Given the description of an element on the screen output the (x, y) to click on. 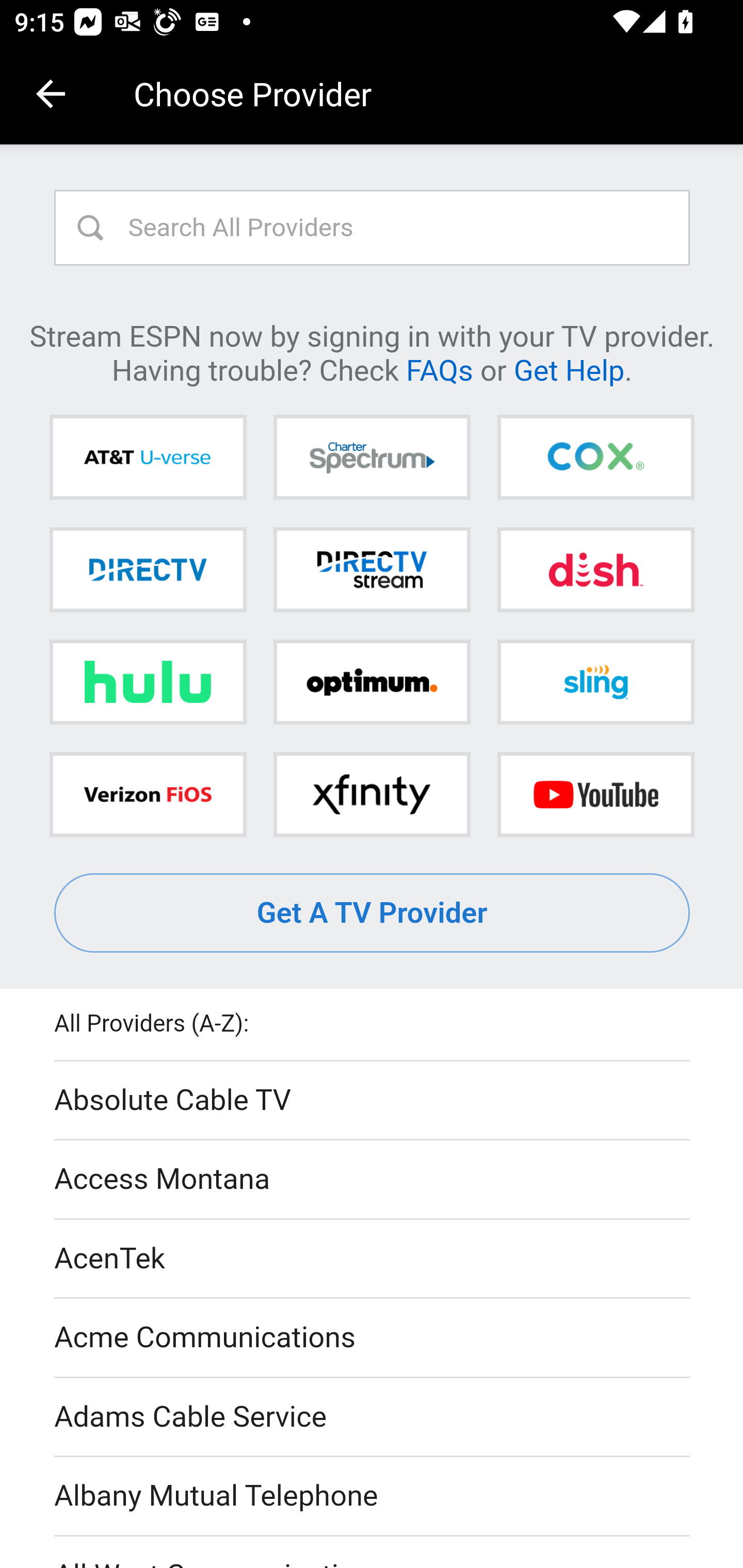
Navigate up (50, 93)
FAQs (438, 369)
Get Help (569, 369)
AT&T U-verse (147, 457)
Charter Spectrum (371, 457)
Cox (595, 457)
DIRECTV (147, 568)
DIRECTV STREAM (371, 568)
DISH (595, 568)
Hulu (147, 681)
Optimum (371, 681)
Sling TV (595, 681)
Verizon FiOS (147, 793)
Xfinity (371, 793)
YouTube TV (595, 793)
Get A TV Provider (372, 912)
Absolute Cable TV (372, 1100)
Access Montana (372, 1178)
AcenTek (372, 1258)
Acme Communications (372, 1338)
Adams Cable Service (372, 1417)
Albany Mutual Telephone (372, 1497)
